Given the description of an element on the screen output the (x, y) to click on. 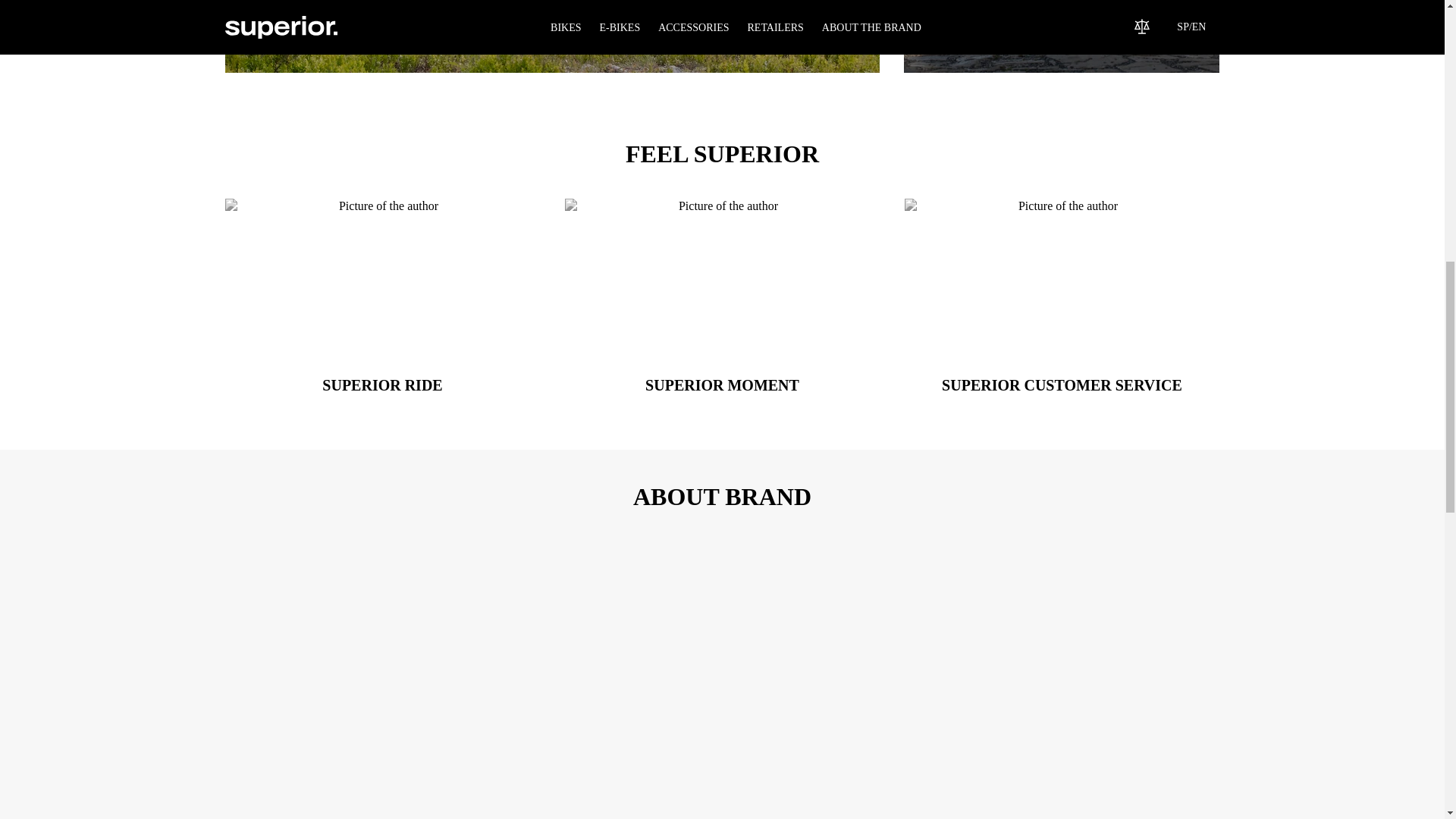
DISCOVER NEW XF (983, 30)
SUPERIOR RIDE (1062, 36)
SUPERIOR CUSTOMER SERVICE (382, 296)
SUPERIOR MOMENT (1062, 296)
DISCOVER IXF (721, 296)
